Given the description of an element on the screen output the (x, y) to click on. 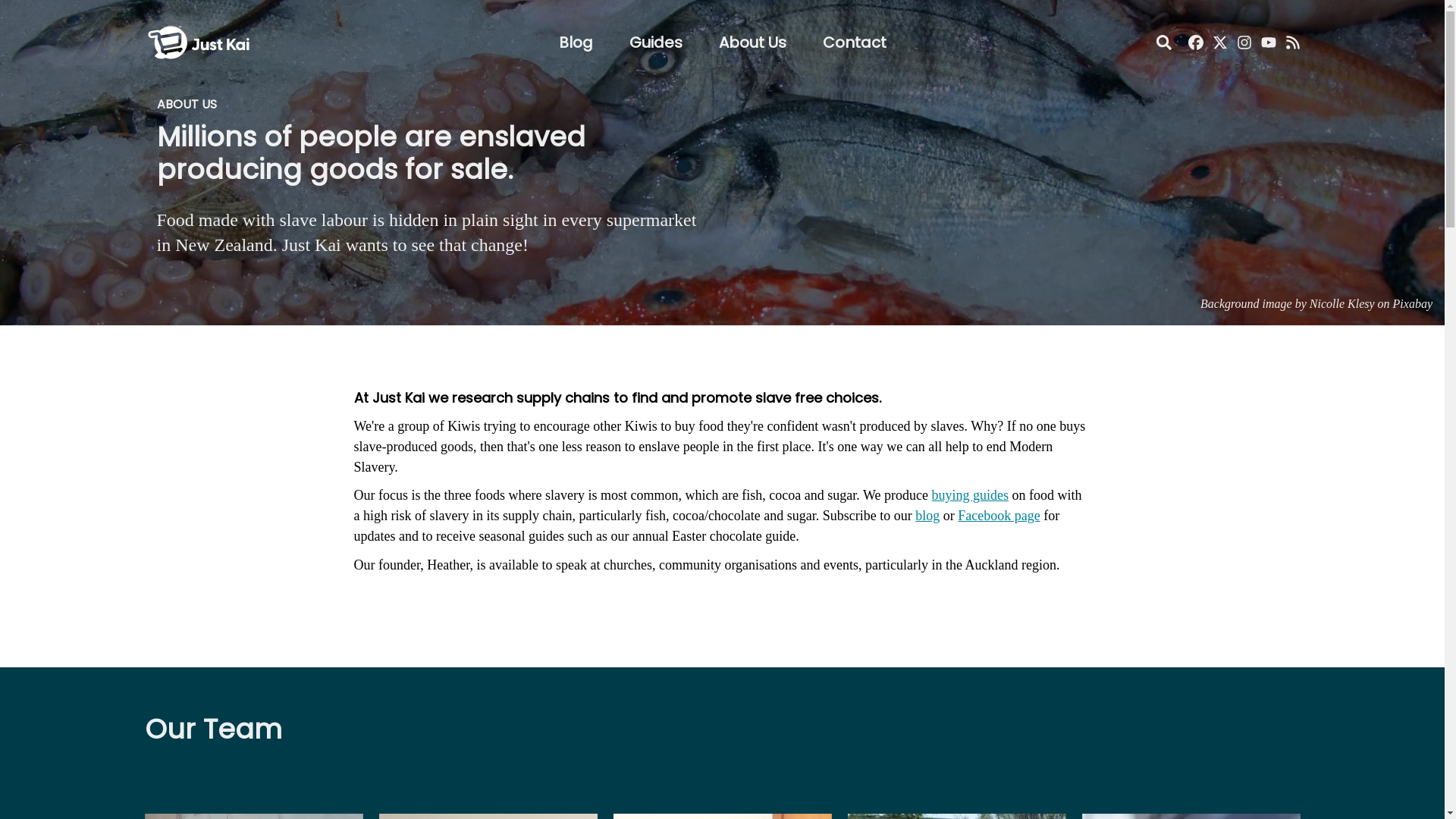
Blog (574, 42)
Just Kai Facebook (1195, 42)
About Us (752, 42)
Contact (853, 42)
Millions of people (275, 136)
buying guides (970, 494)
Just Kai RSS (1292, 42)
blog (927, 515)
Facebook page (998, 515)
Just Kai YouTube (1267, 42)
Guides (655, 42)
Background image by Nicolle Klesy on Pixabay (1315, 303)
Just Kai Instagram (1243, 42)
Just Kai Home Page (197, 23)
Just Kai on X (1219, 42)
